Given the description of an element on the screen output the (x, y) to click on. 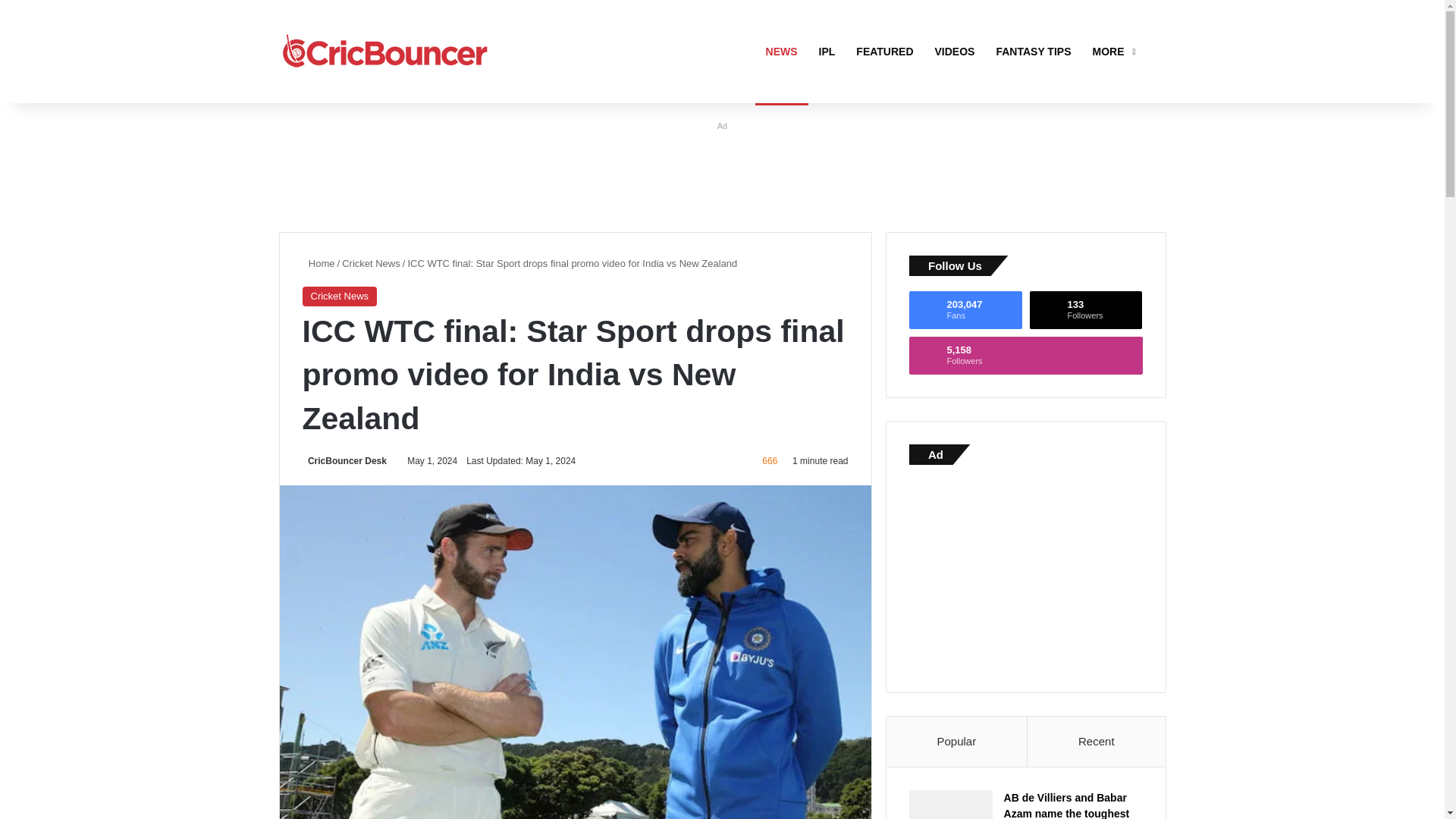
Cricket News (371, 263)
Home (1025, 355)
Recent (317, 263)
CricBouncer (1095, 741)
FANTASY TIPS (1085, 310)
Popular (385, 51)
CricBouncer Desk (1033, 51)
Cricket News (956, 741)
CricBouncer Desk (965, 310)
